Given the description of an element on the screen output the (x, y) to click on. 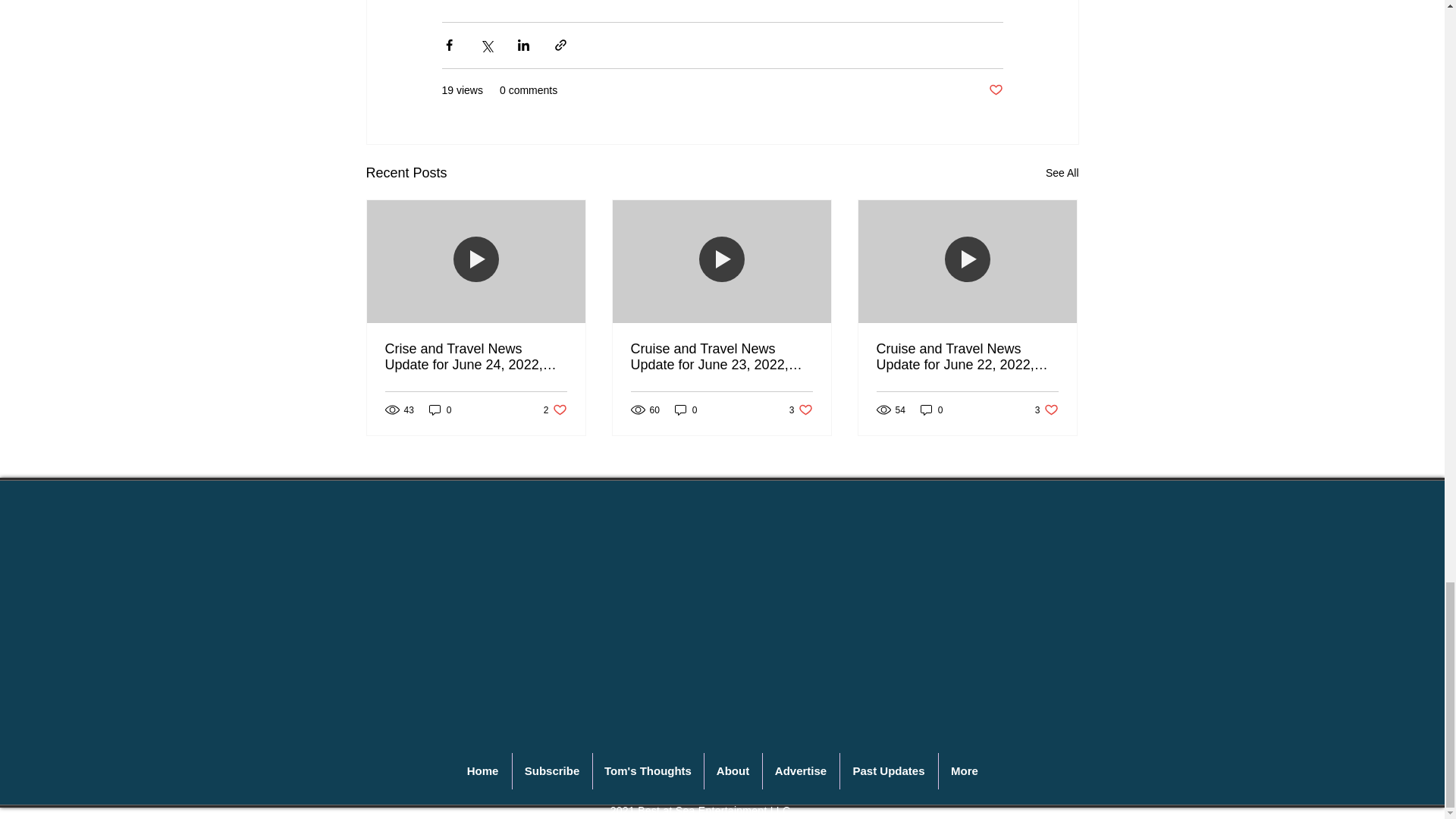
See All (1061, 173)
About (732, 770)
Tom's Thoughts (647, 770)
Advertise (555, 409)
Post not marked as liked (801, 770)
0 (995, 90)
0 (440, 409)
Home (685, 409)
Subscribe (800, 409)
0 (481, 770)
